Given the description of an element on the screen output the (x, y) to click on. 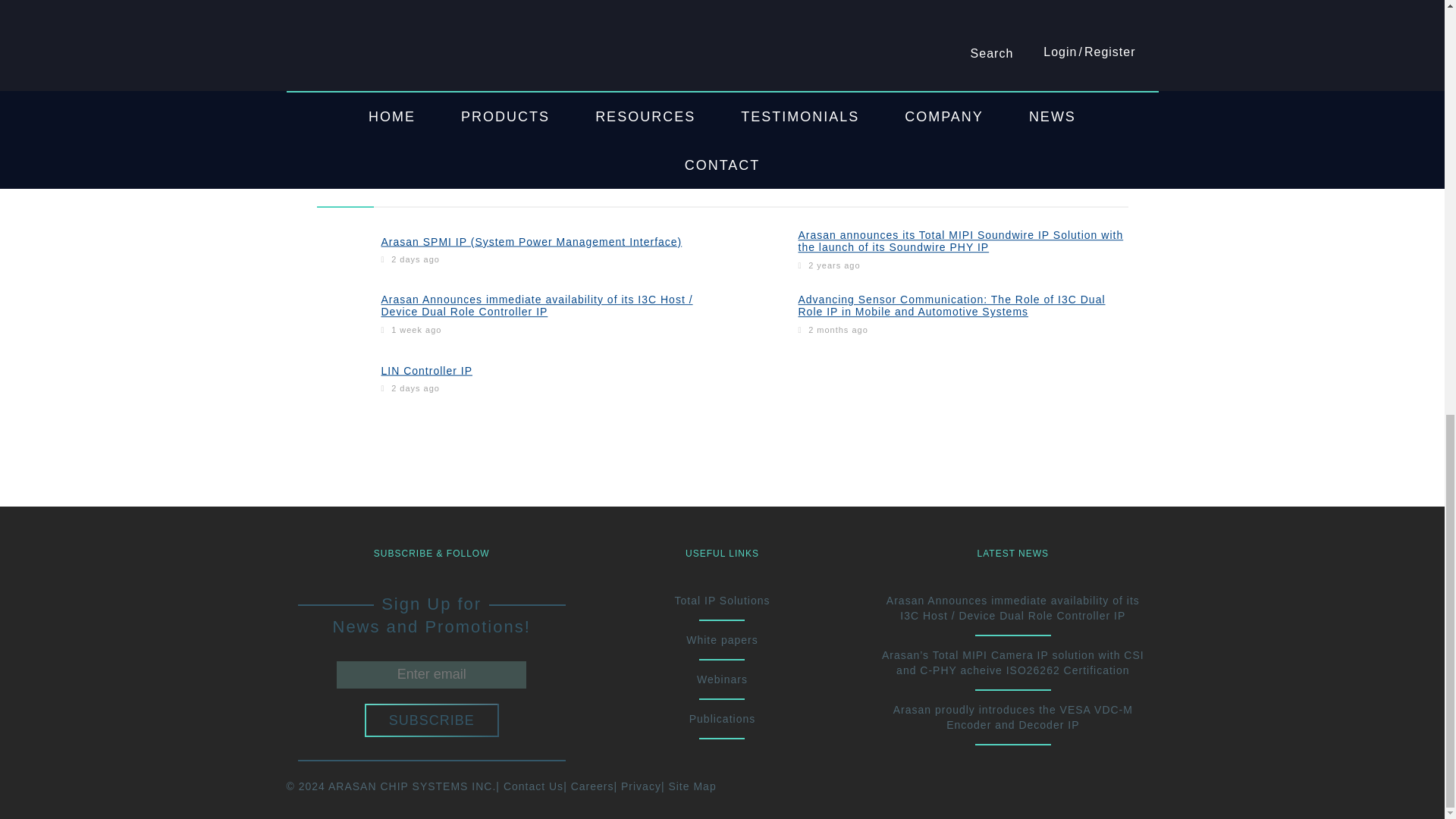
Privacy (641, 786)
Subscribe (432, 720)
Careers (592, 786)
Publications (721, 718)
Total IP Solutions (722, 600)
LIN Controller IP (425, 369)
LIN Controller IP (425, 369)
